Given the description of an element on the screen output the (x, y) to click on. 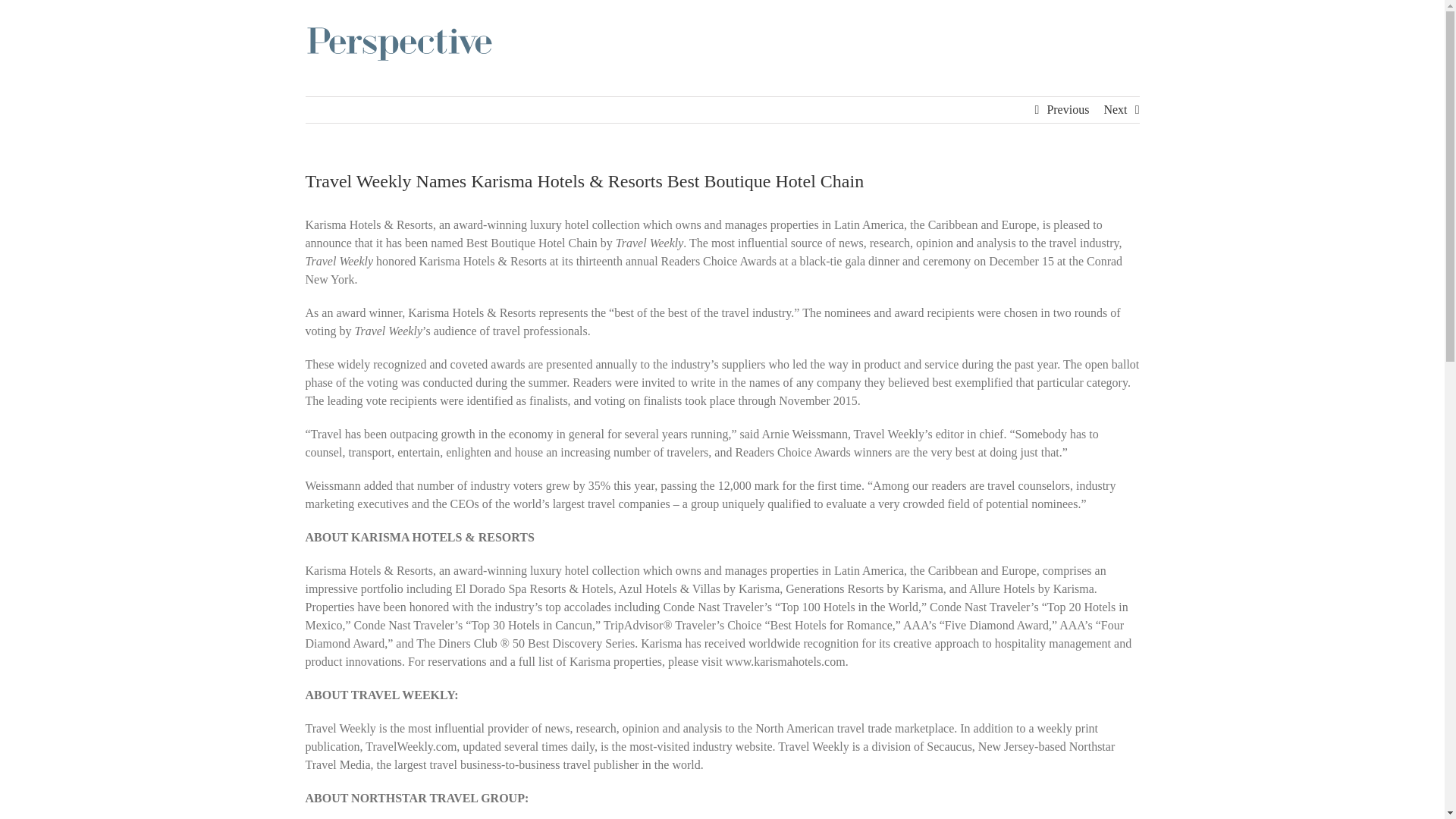
Next (1114, 109)
Previous (1067, 109)
